Given the description of an element on the screen output the (x, y) to click on. 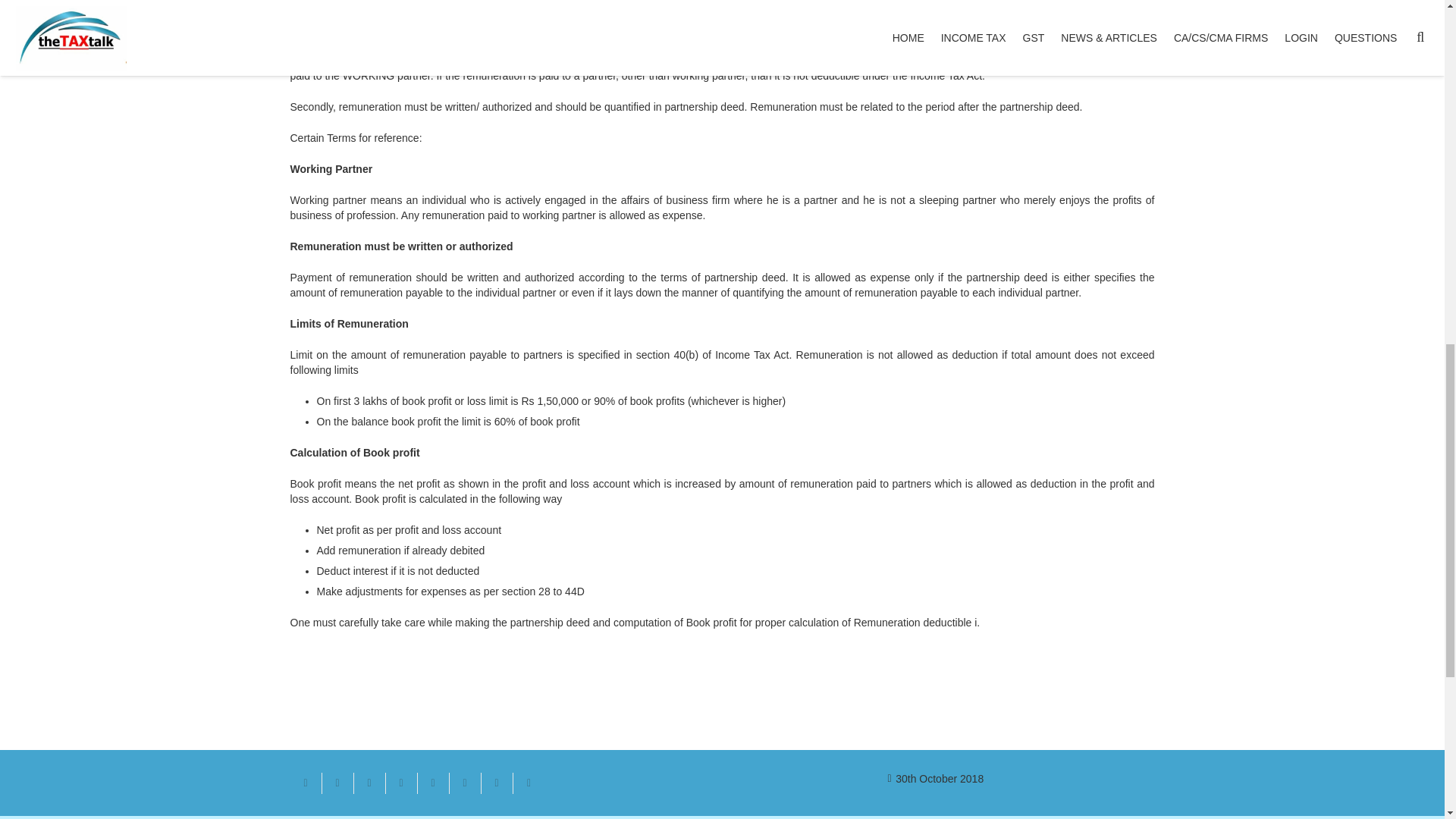
Back to top (1413, 22)
Share this (337, 783)
Share this (528, 783)
Tweet this (369, 783)
Share this (496, 783)
Share this (464, 783)
Email this (305, 783)
Pin this (432, 783)
Share this (400, 783)
